Given the description of an element on the screen output the (x, y) to click on. 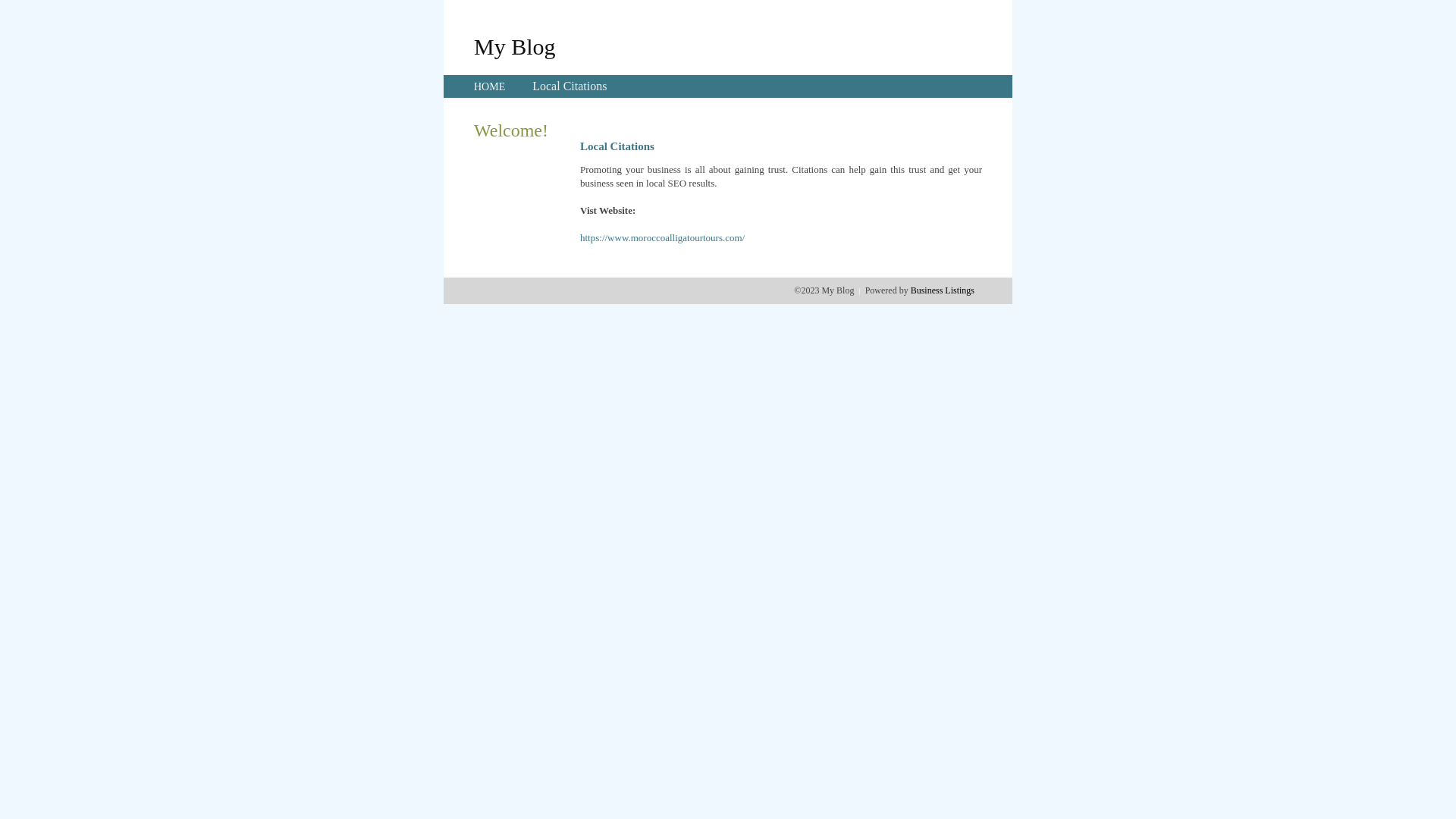
https://www.moroccoalligatourtours.com/ Element type: text (662, 237)
Local Citations Element type: text (569, 85)
HOME Element type: text (489, 86)
Business Listings Element type: text (942, 290)
My Blog Element type: text (514, 46)
